Given the description of an element on the screen output the (x, y) to click on. 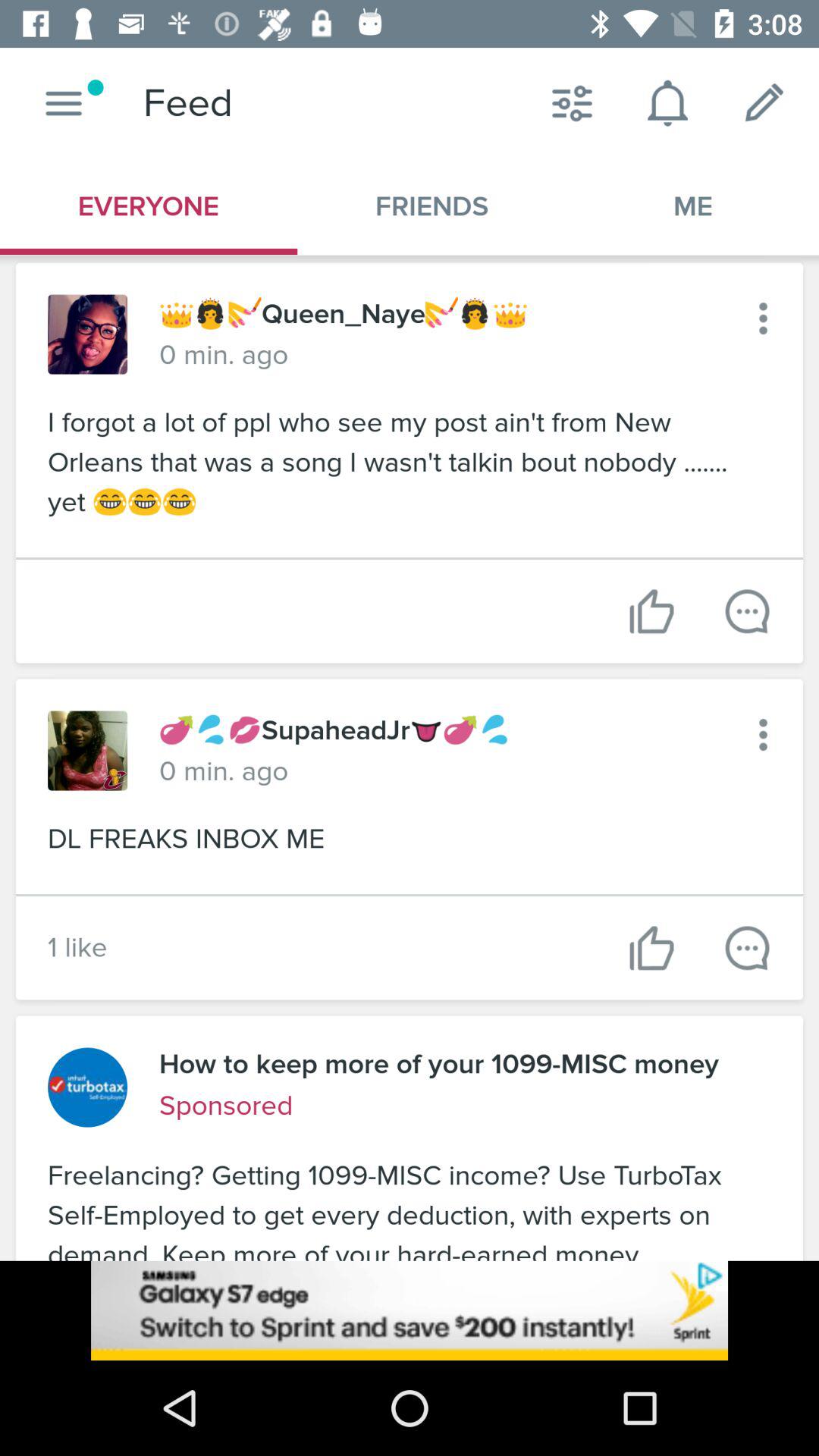
go to menu (763, 734)
